Given the description of an element on the screen output the (x, y) to click on. 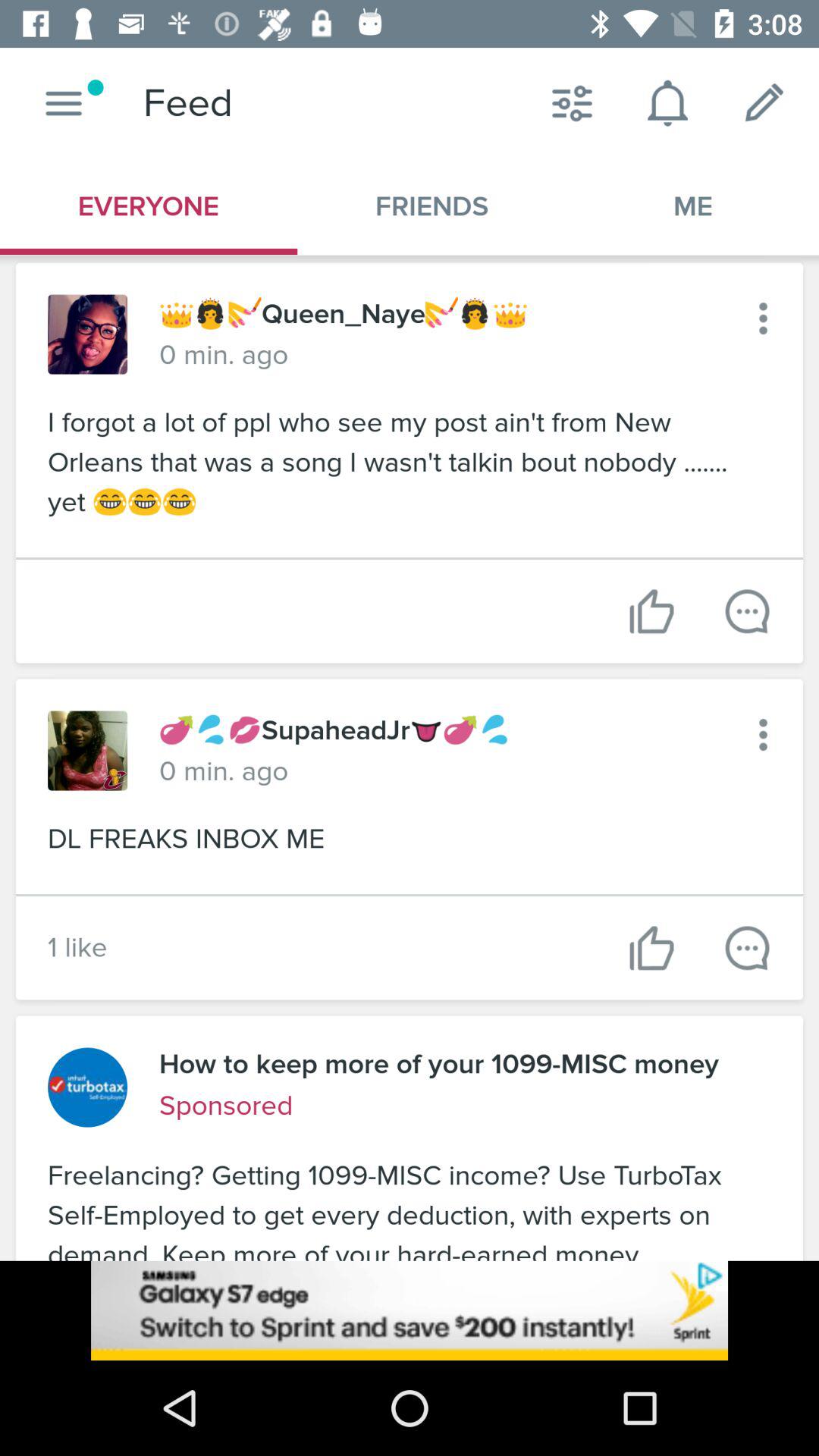
go to menu (763, 734)
